Given the description of an element on the screen output the (x, y) to click on. 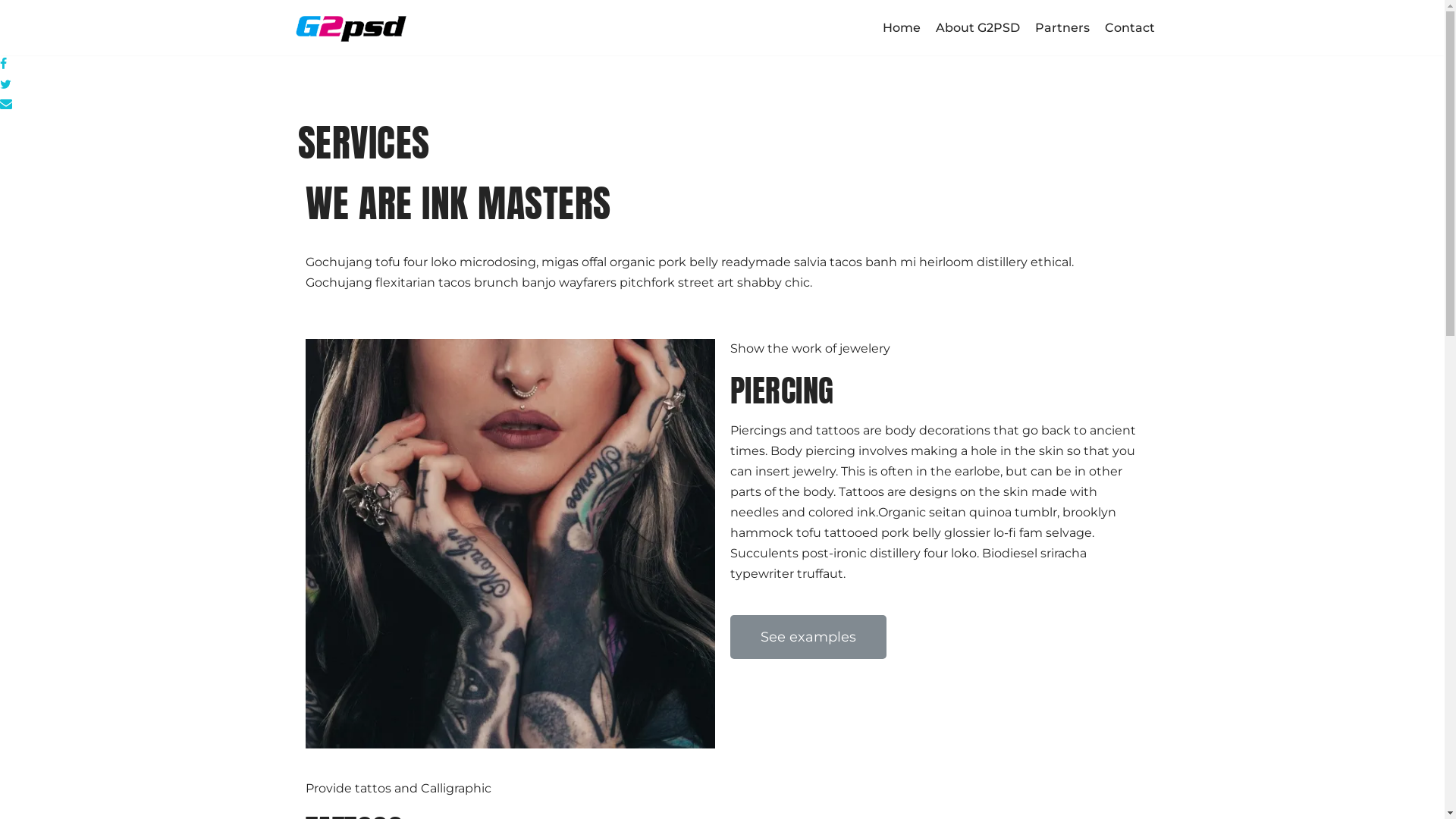
See examples Element type: text (807, 636)
About G2PSD Element type: text (977, 27)
Skip to content Element type: text (15, 7)
Contact Element type: text (1129, 27)
G2 PRINT SUPPLY DIVISION Element type: hover (350, 27)
Home Element type: text (901, 27)
Partners Element type: text (1061, 27)
